Given the description of an element on the screen output the (x, y) to click on. 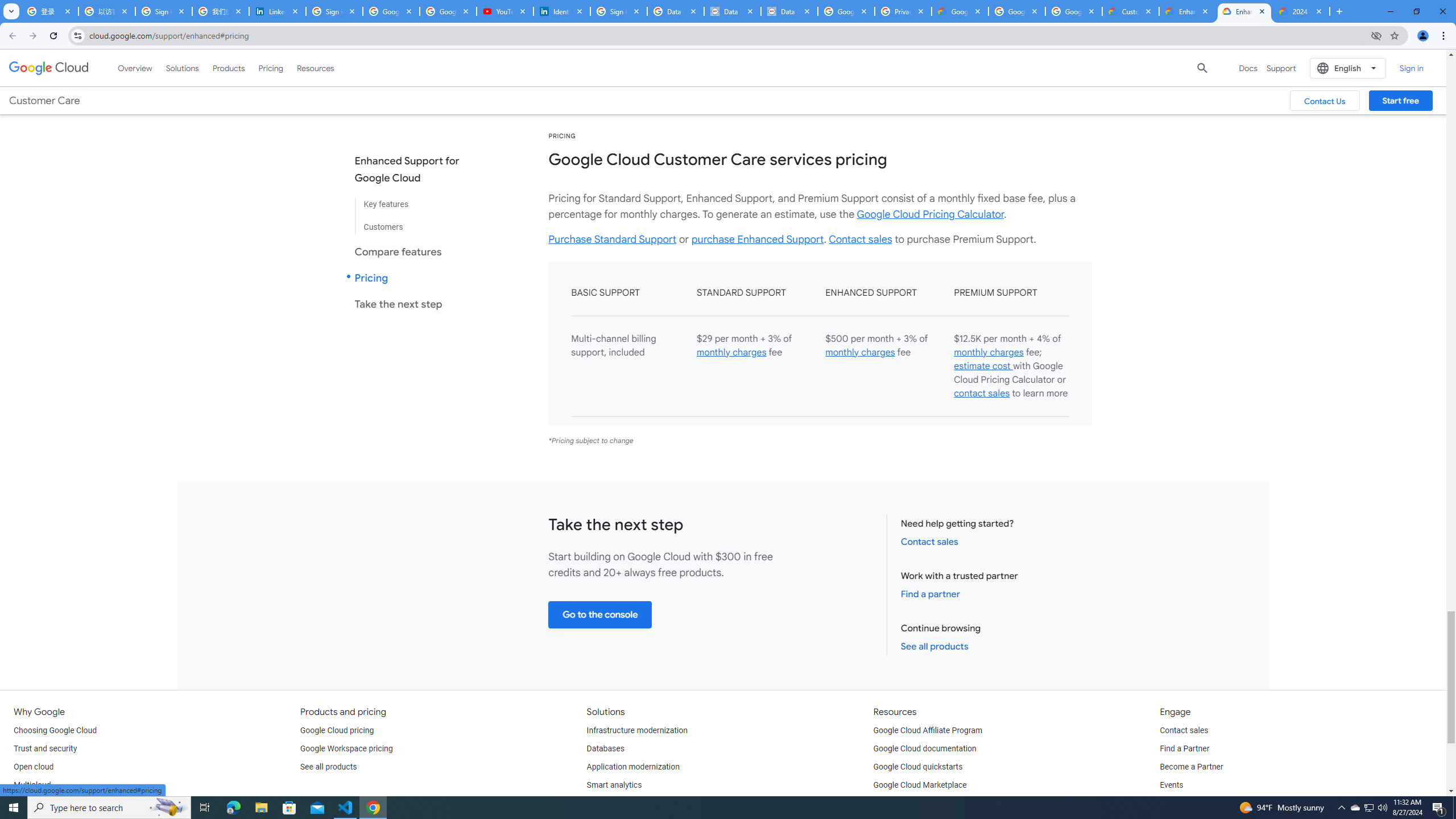
Start free (1400, 100)
Media CDN (992, 66)
Sign in (1411, 67)
Global infrastructure (49, 802)
Google Workspace - Specific Terms (1015, 11)
Google Cloud documentation (924, 748)
Customers (416, 222)
Overview (135, 67)
Google Cloud quickstarts (917, 766)
Data Privacy Framework (731, 11)
